Given the description of an element on the screen output the (x, y) to click on. 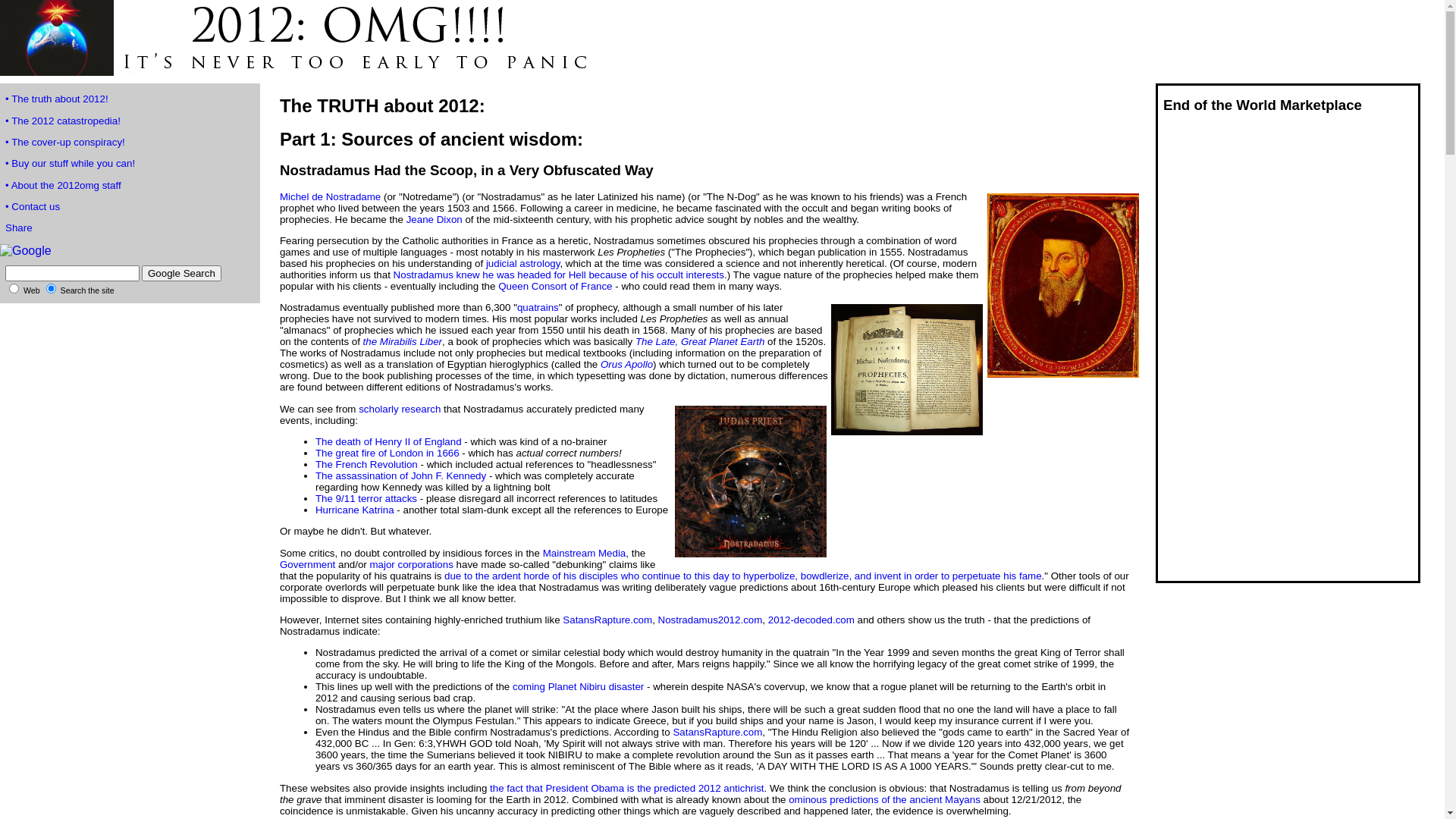
Orus Apollo Element type: text (626, 364)
2012-decoded.com Element type: text (811, 619)
Advertisement Element type: hover (1218, 352)
major corporations Element type: text (410, 564)
coming Planet Nibiru disaster Element type: text (577, 686)
The great fire of London in 1666 Element type: text (387, 452)
The Late, Great Planet Earth Element type: text (699, 341)
Michel de Nostradame Element type: text (329, 196)
quatrains Element type: text (537, 307)
SatansRapture.com Element type: text (607, 619)
Jeane Dixon Element type: text (434, 219)
Hurricane Katrina Element type: text (354, 509)
The French Revolution Element type: text (366, 464)
Nostradamus2012.com Element type: text (710, 619)
the Mirabilis Liber Element type: text (402, 341)
judicial astrology Element type: text (523, 263)
The death of Henry II of England Element type: text (388, 441)
Google Search Element type: text (181, 273)
SatansRapture.com Element type: text (717, 731)
Share Element type: text (18, 227)
Government Element type: text (307, 564)
Queen Consort of France Element type: text (554, 285)
Mainstream Media Element type: text (584, 552)
The 9/11 terror attacks Element type: text (366, 498)
ominous predictions of the ancient Mayans Element type: text (884, 799)
Earth = hosed? Element type: hover (303, 71)
scholarly research Element type: text (399, 408)
The assassination of John F. Kennedy Element type: text (400, 475)
